Given the description of an element on the screen output the (x, y) to click on. 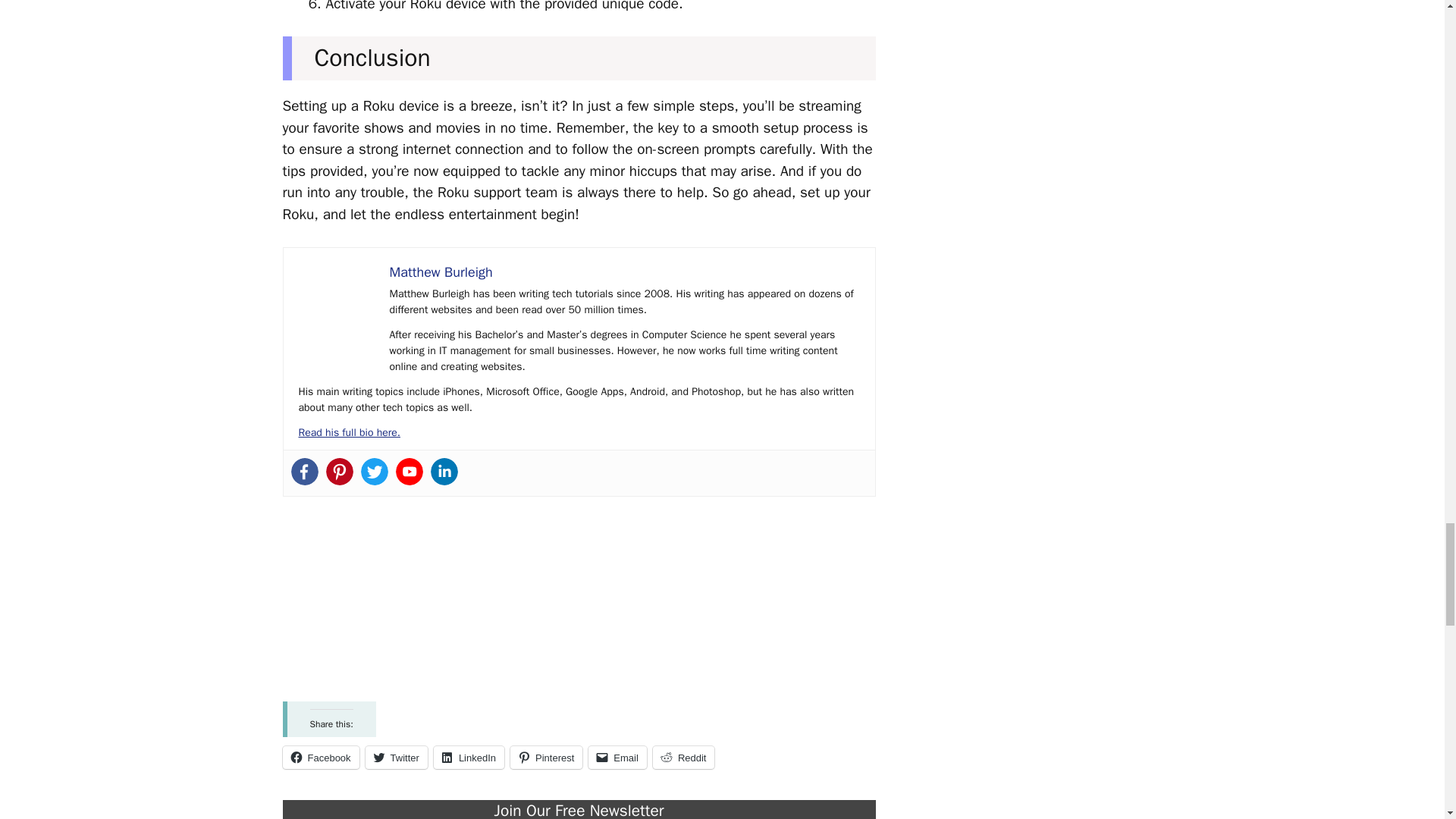
Pinterest (339, 471)
How to Set Up Roku: A Step-by-Step Guide for Beginners 1 (336, 300)
Pinterest (546, 757)
Click to share on Pinterest (546, 757)
LinkedIn (468, 757)
Click to email a link to a friend (617, 757)
Linkedin (444, 471)
Facebook (304, 471)
Click to share on Twitter (396, 757)
Twitter (396, 757)
Facebook (320, 757)
Email (617, 757)
Click to share on LinkedIn (468, 757)
Twitter (374, 471)
Read his full bio here. (349, 431)
